Given the description of an element on the screen output the (x, y) to click on. 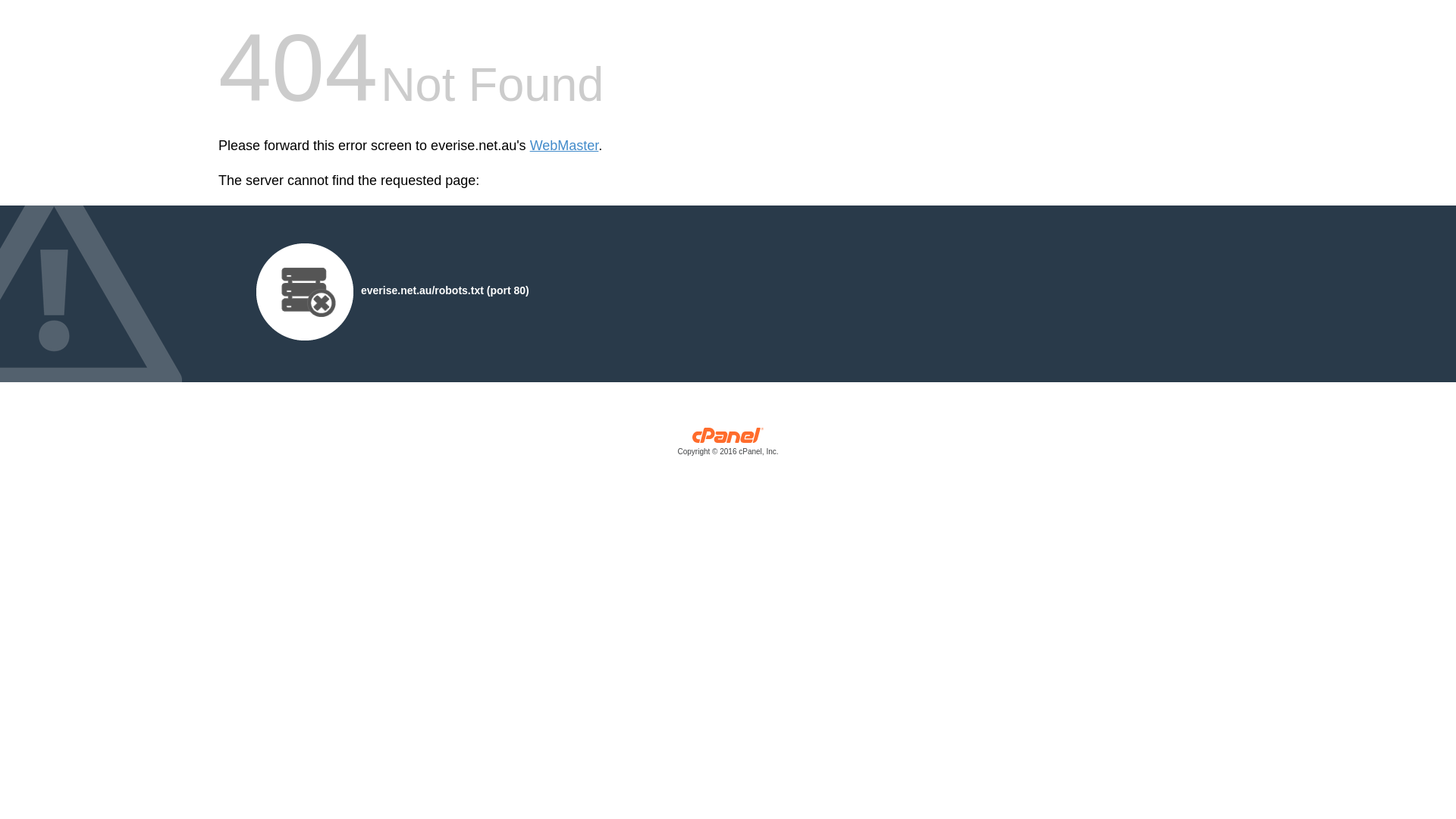
WebMaster Element type: text (564, 145)
